Given the description of an element on the screen output the (x, y) to click on. 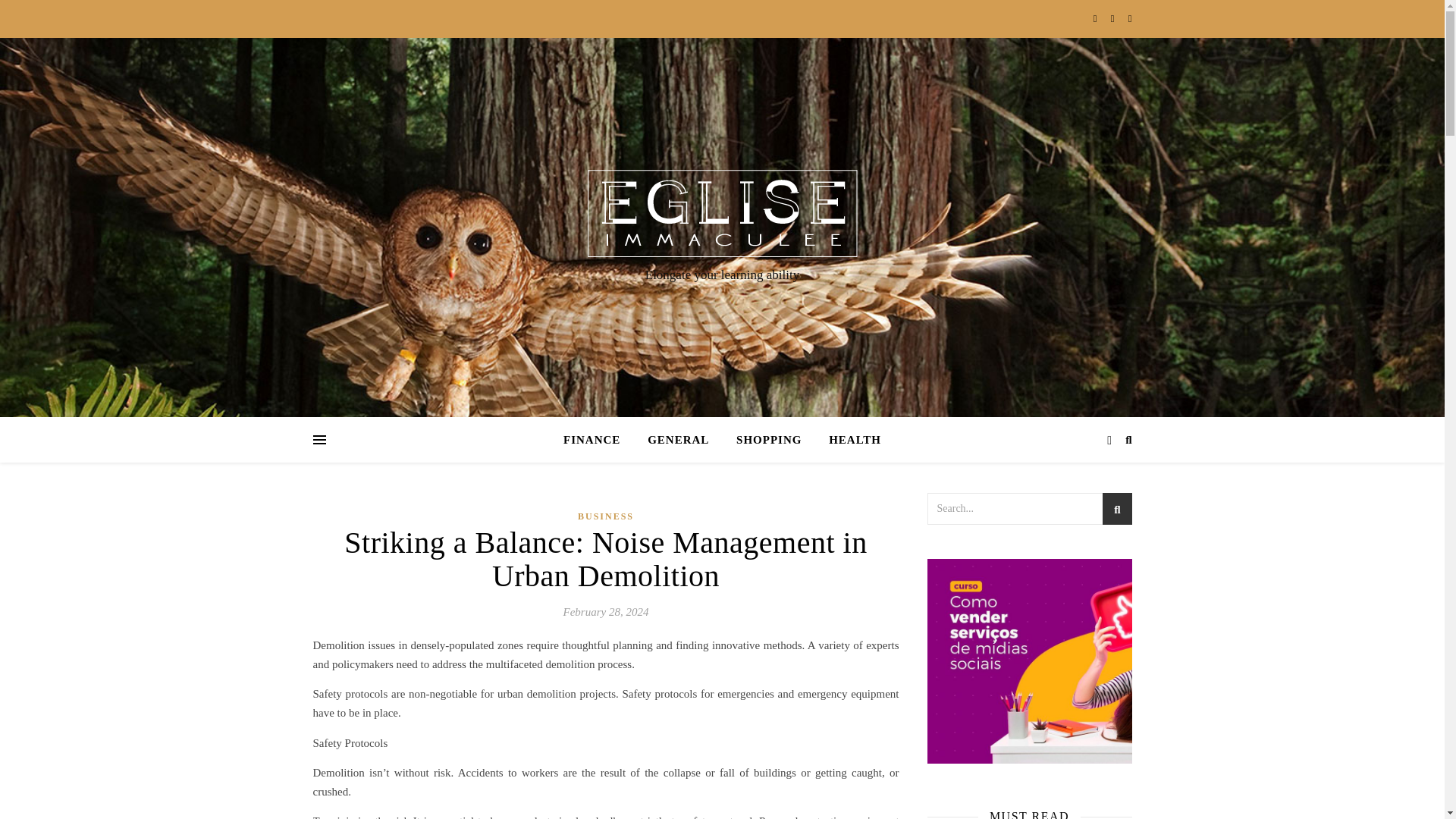
SHOPPING (768, 439)
HEALTH (848, 439)
GENERAL (677, 439)
FINANCE (597, 439)
Eglise Immaculee (721, 213)
